Given the description of an element on the screen output the (x, y) to click on. 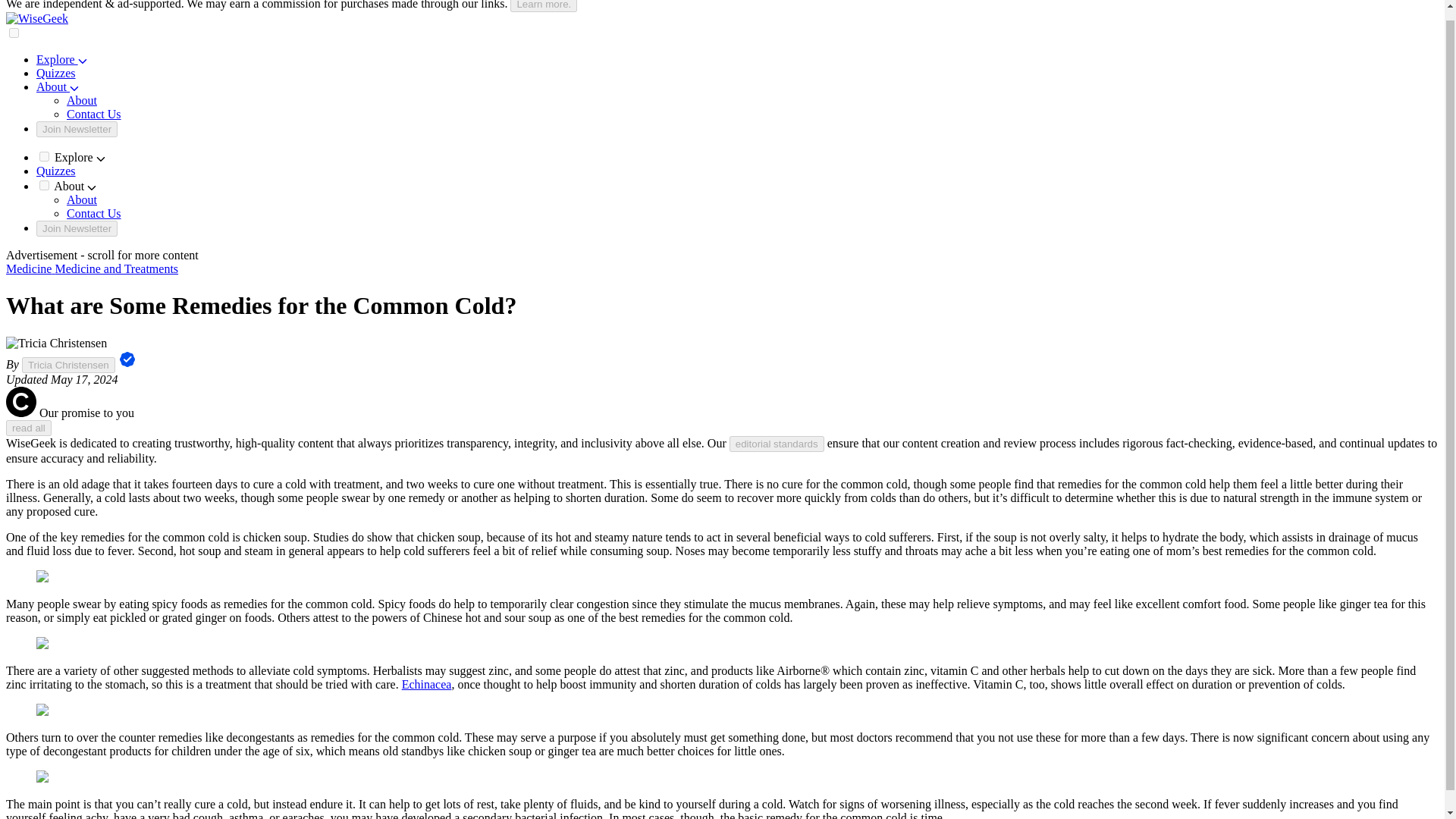
Quizzes (55, 170)
Tricia Christensen (68, 365)
About (81, 100)
About (81, 199)
Learn more. (543, 6)
read all (27, 427)
on (13, 32)
Explore (61, 59)
Medicine Medicine and Treatments (91, 268)
Quizzes (55, 72)
Join Newsletter (76, 129)
About (57, 86)
Join Newsletter (76, 228)
Contact Us (93, 113)
Echinacea (426, 684)
